Given the description of an element on the screen output the (x, y) to click on. 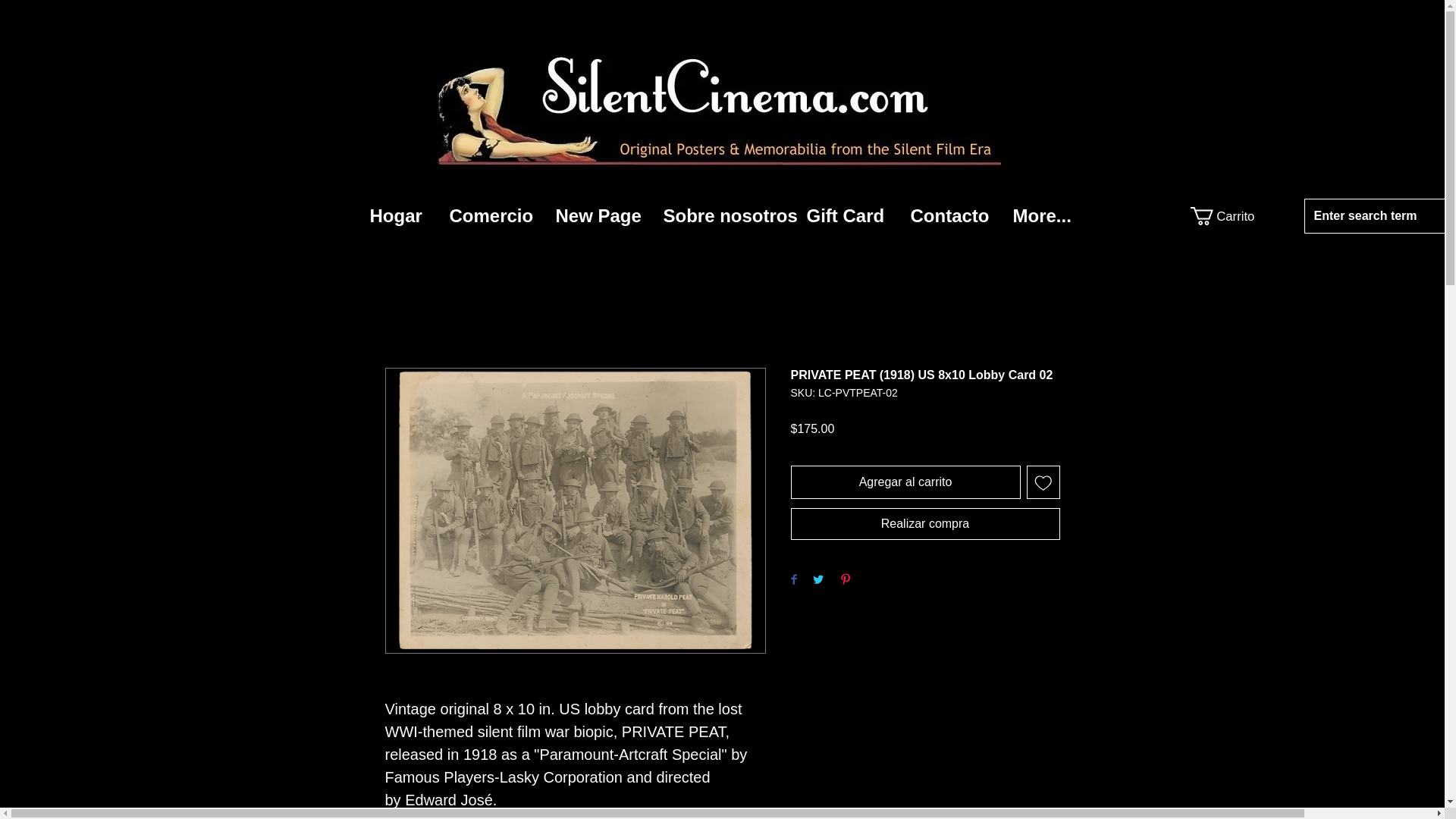
SilentCinema.com Logo (720, 110)
Contacto (950, 215)
Hogar (398, 215)
Sobre nosotros (723, 215)
Carrito (1224, 216)
Agregar al carrito (905, 482)
Carrito (1224, 216)
Gift Card (846, 215)
Comercio (491, 215)
New Page (598, 215)
Realizar compra (924, 523)
